Given the description of an element on the screen output the (x, y) to click on. 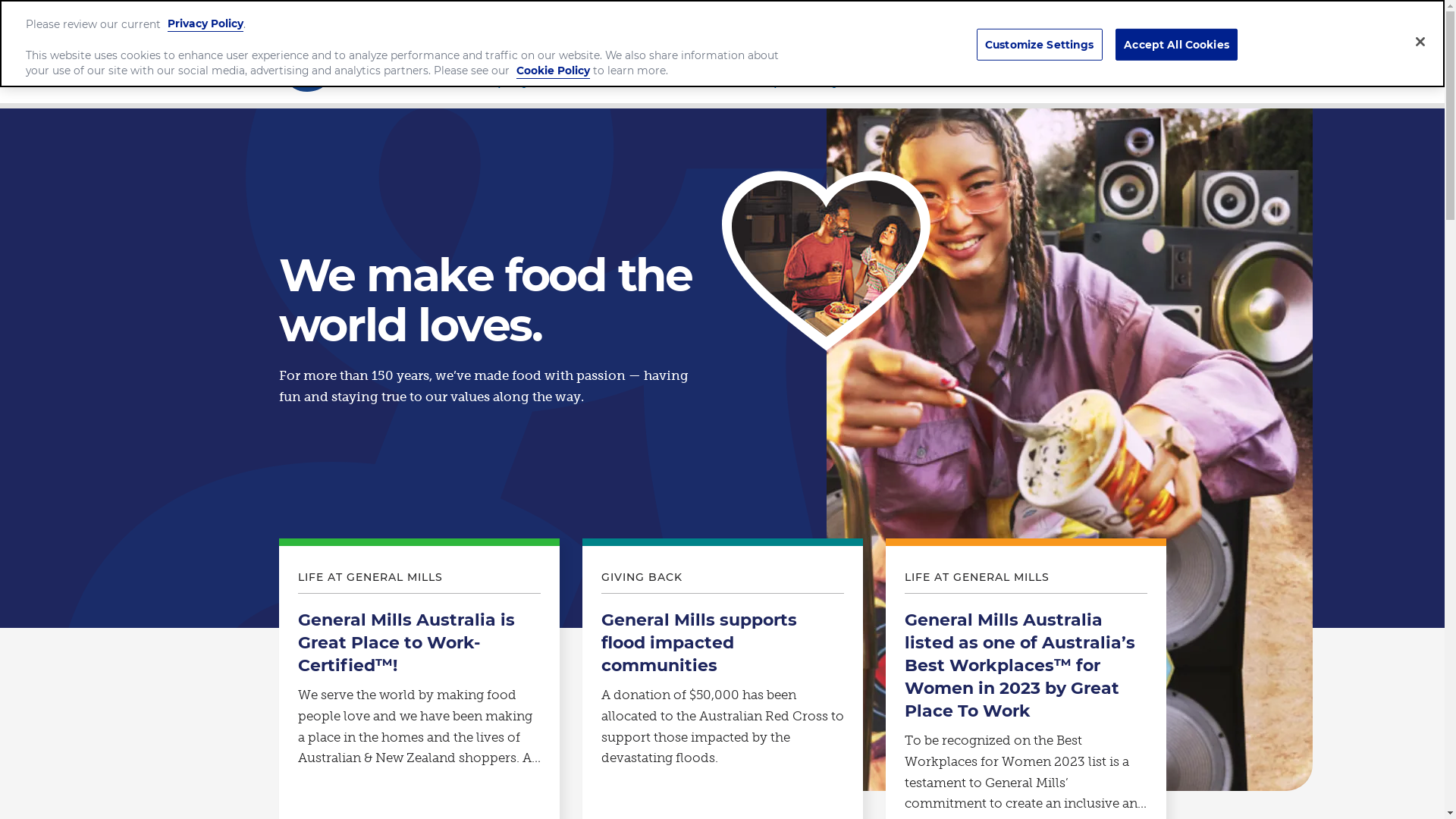
Careers Element type: text (937, 83)
News & Stories Element type: text (1081, 83)
Insert a query. Press enter to send Element type: hover (1033, 34)
Cookie Policy Element type: text (552, 70)
Responsibility Element type: text (794, 83)
Company Element type: text (498, 83)
Customize Settings Element type: text (1039, 44)
Accept All Cookies Element type: text (1176, 44)
Privacy Policy Element type: text (205, 23)
Our Brands Element type: text (639, 83)
